Given the description of an element on the screen output the (x, y) to click on. 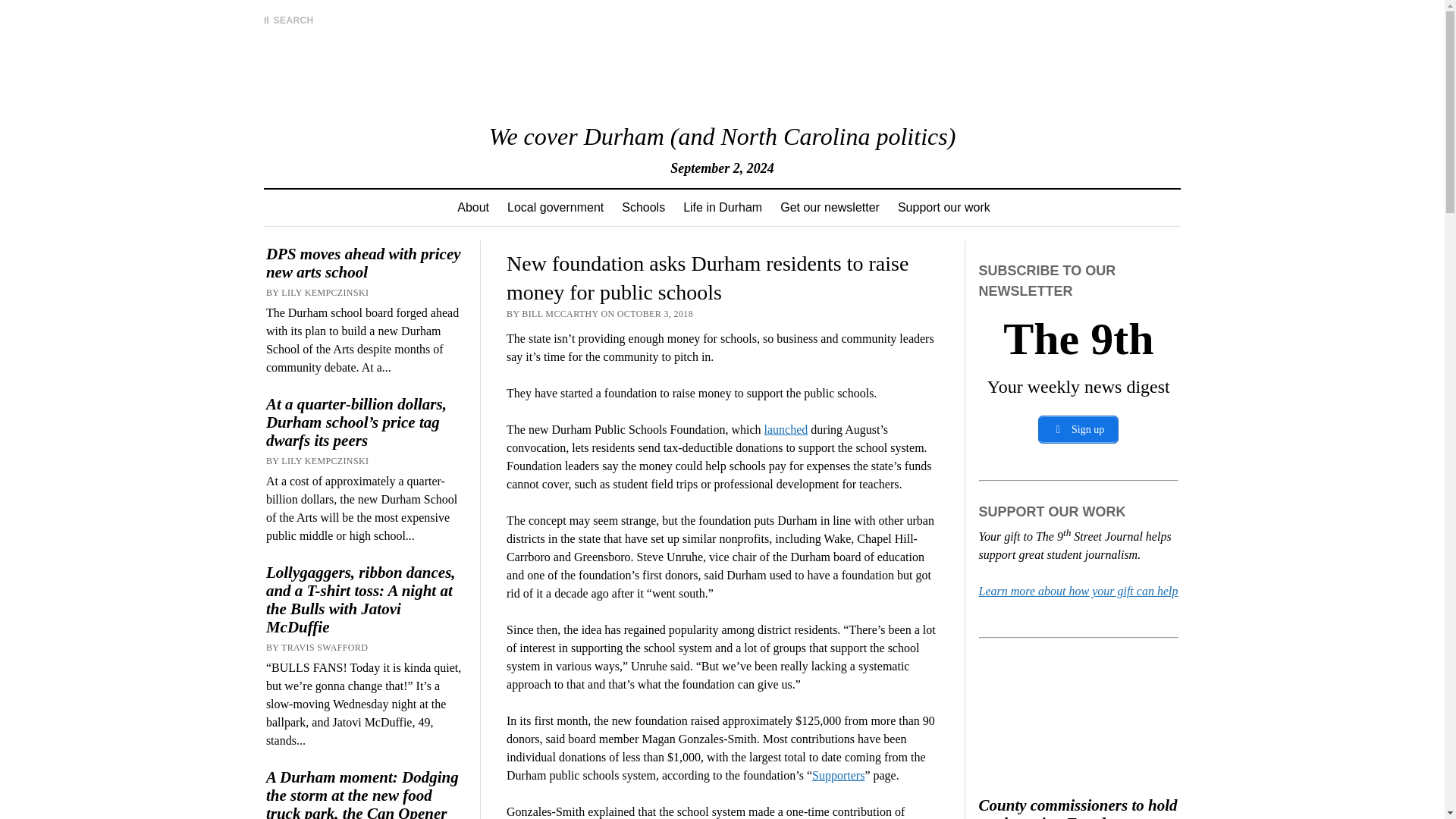
About (472, 207)
Support our work (943, 207)
SEARCH (288, 20)
Local government (554, 207)
launched (786, 429)
Schools (643, 207)
Get our newsletter (829, 207)
DPS moves ahead with pricey new arts school (365, 262)
Life in Durham (722, 207)
